Given the description of an element on the screen output the (x, y) to click on. 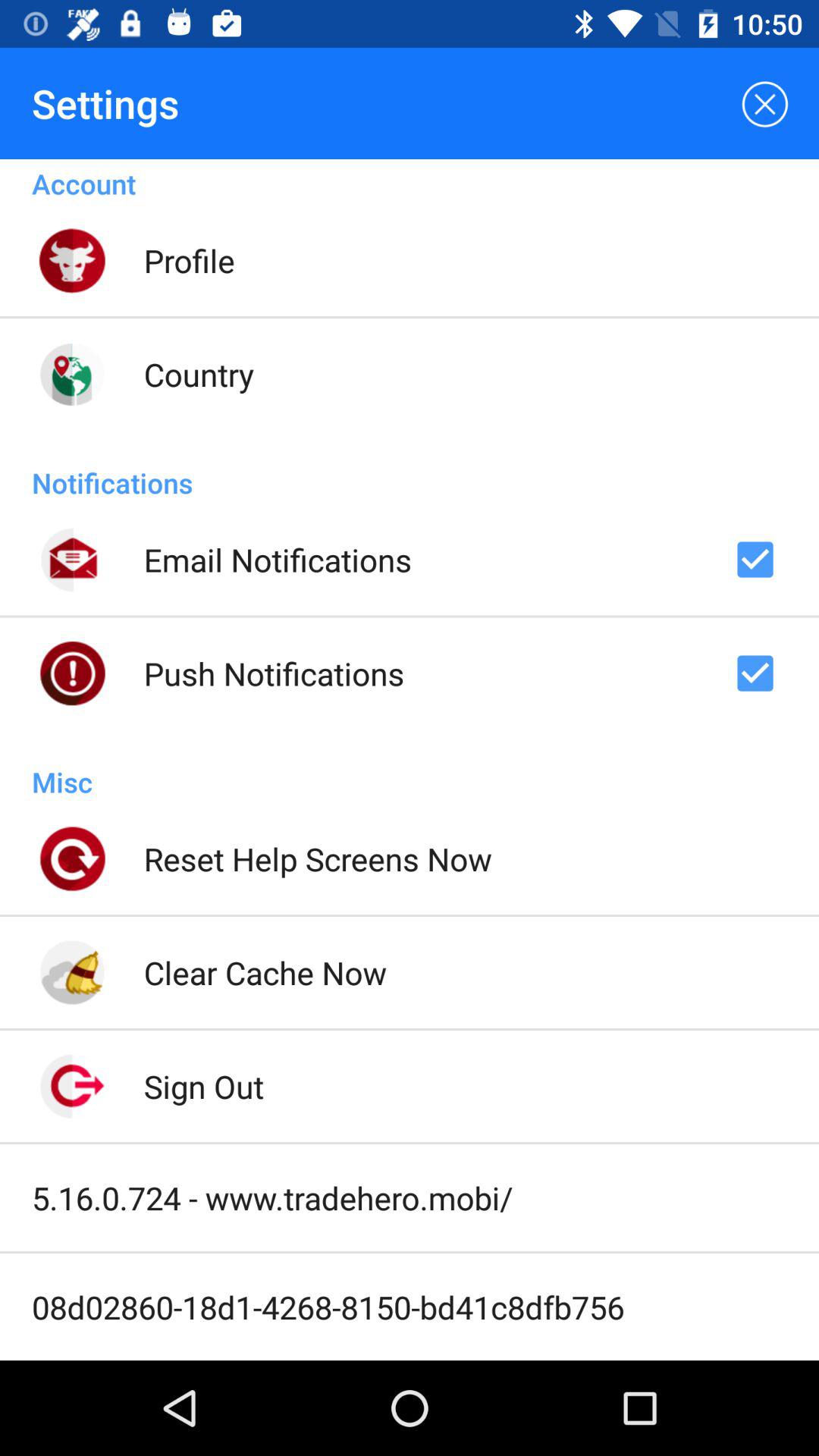
click icon above notifications icon (198, 373)
